Given the description of an element on the screen output the (x, y) to click on. 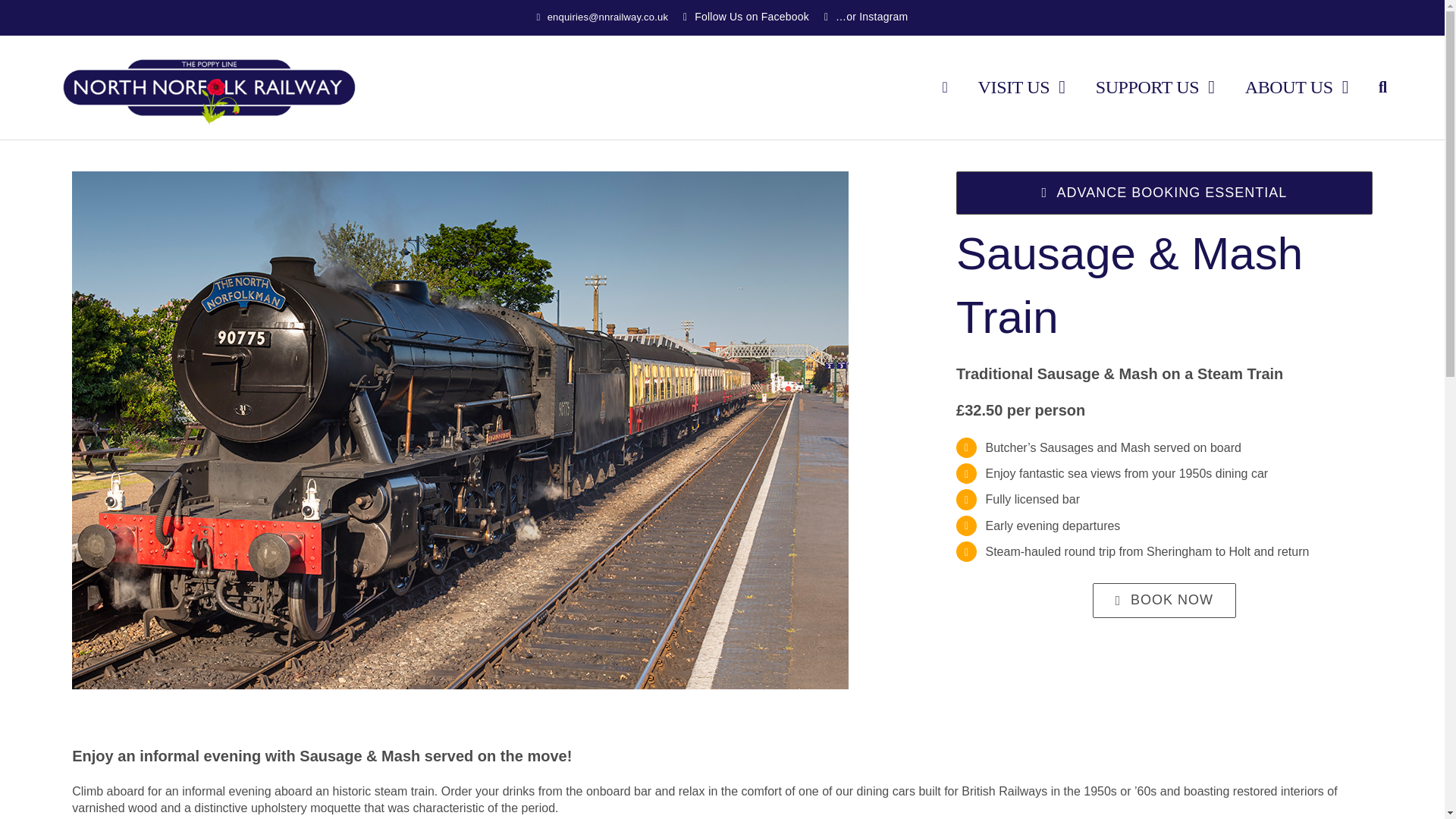
Follow Us on Facebook (745, 17)
VISIT US (1021, 87)
SUPPORT US (1155, 87)
ABOUT US (1296, 87)
